Given the description of an element on the screen output the (x, y) to click on. 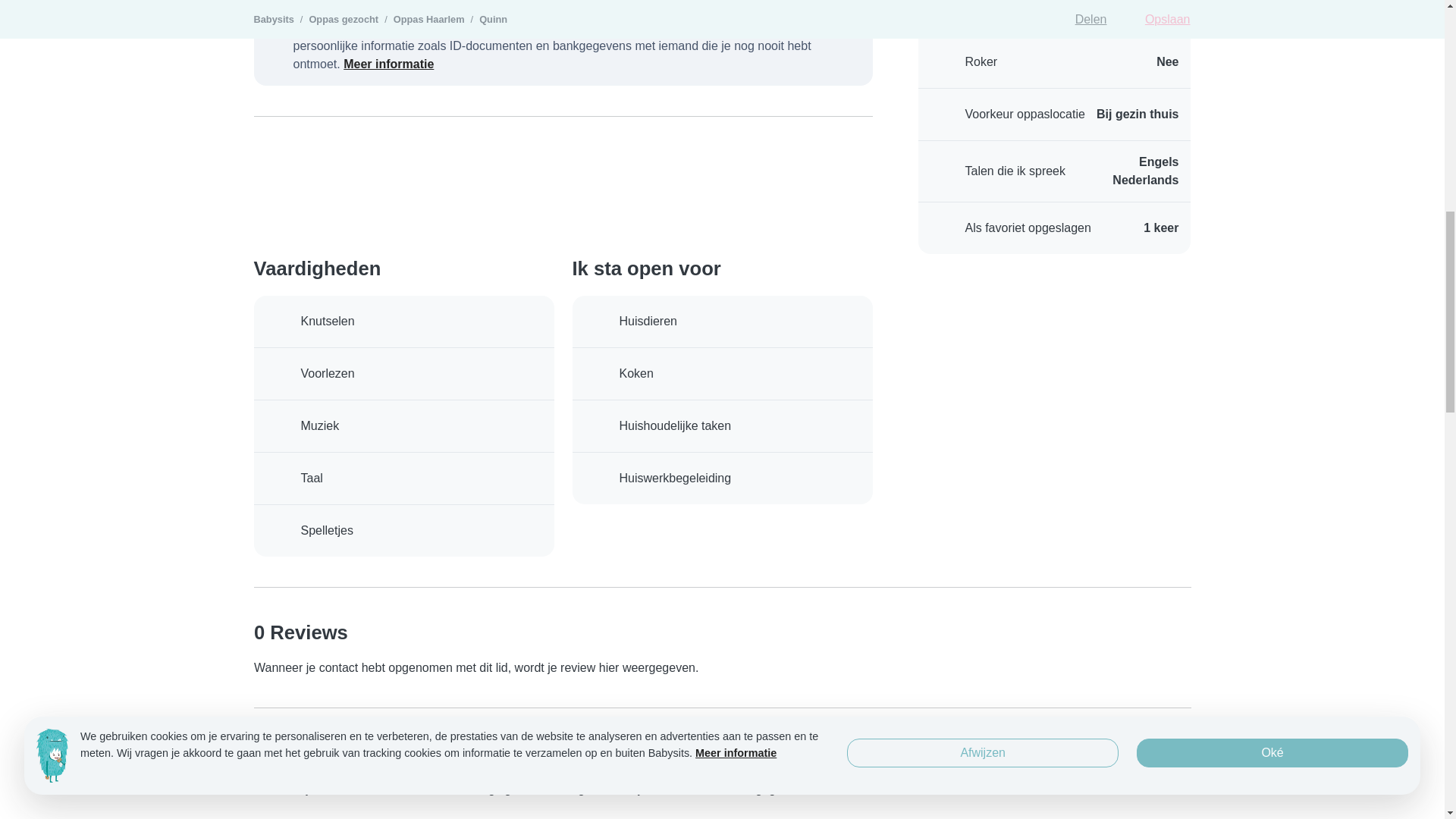
Meer informatie (388, 63)
